Given the description of an element on the screen output the (x, y) to click on. 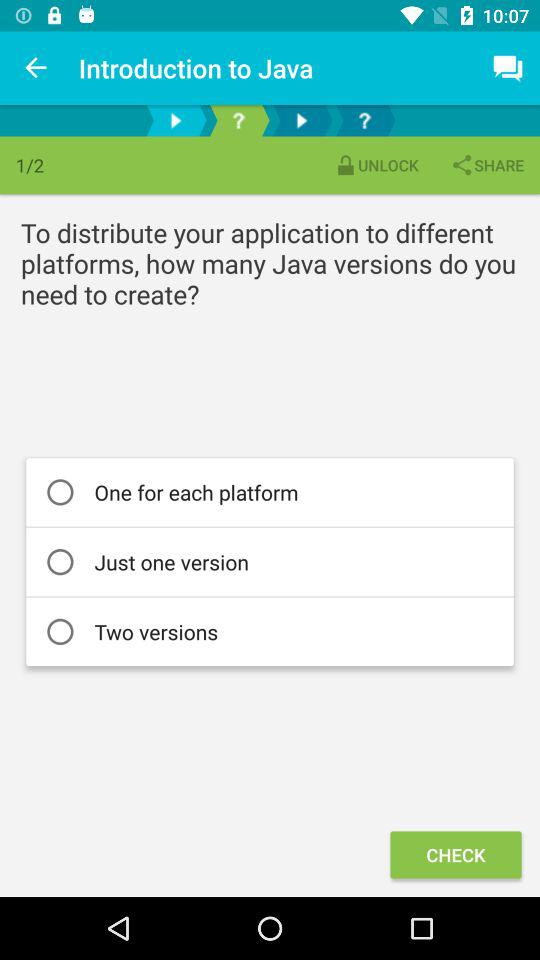
click the check (455, 854)
